Given the description of an element on the screen output the (x, y) to click on. 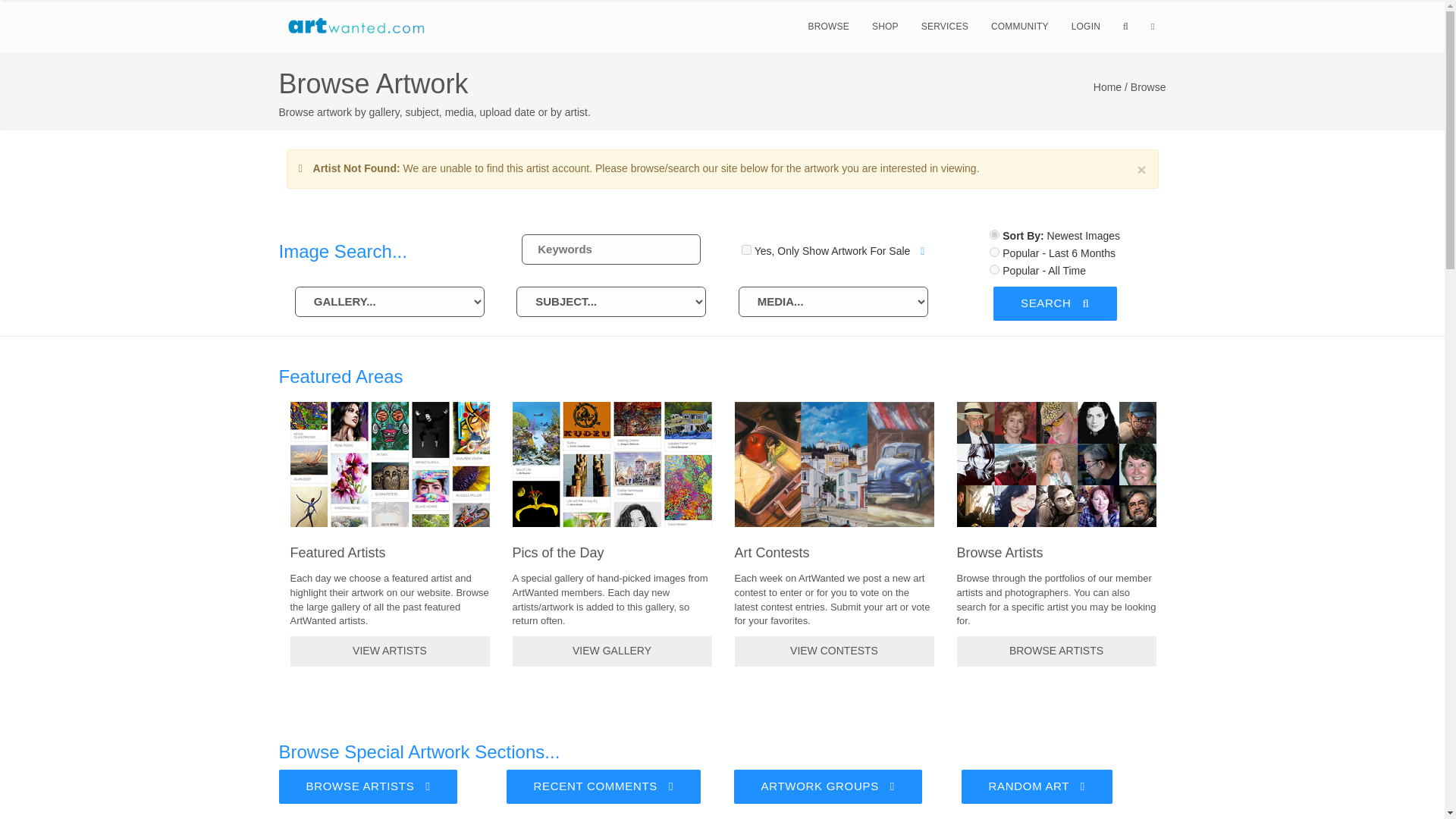
popscore180 (994, 252)
COMMUNITY (1019, 26)
SHOP (885, 26)
1 (746, 249)
BROWSE (828, 26)
SERVICES (944, 26)
popular (994, 269)
LOGIN (1085, 26)
newest (994, 234)
